Given the description of an element on the screen output the (x, y) to click on. 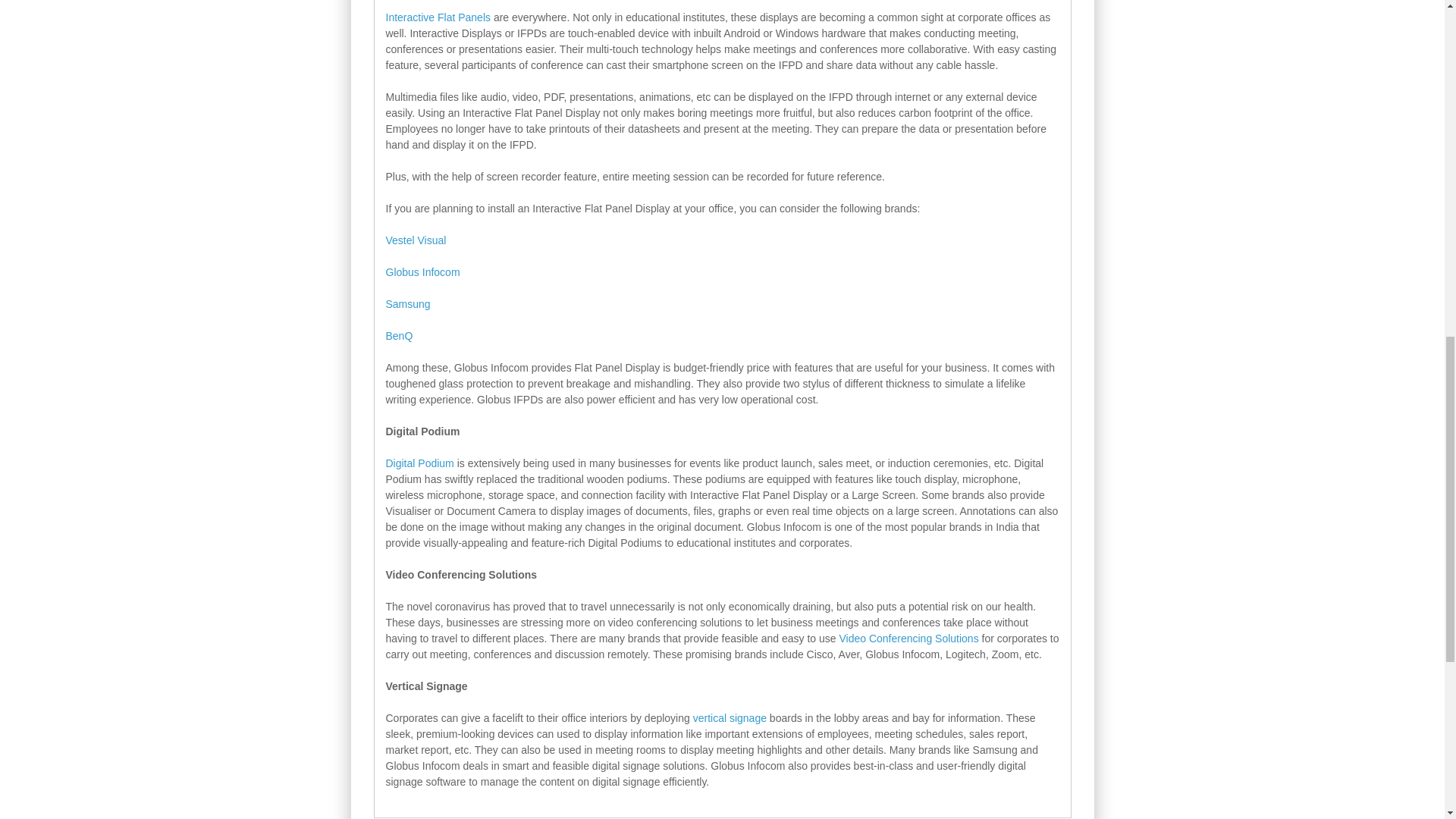
Video Conferencing Solutions (908, 638)
BenQ (398, 336)
Digital Podium (418, 463)
Vestel Visual (415, 240)
Samsung (407, 304)
Interactive Flat Panels (437, 17)
Globus Infocom (422, 272)
vertical signage (730, 717)
